Given the description of an element on the screen output the (x, y) to click on. 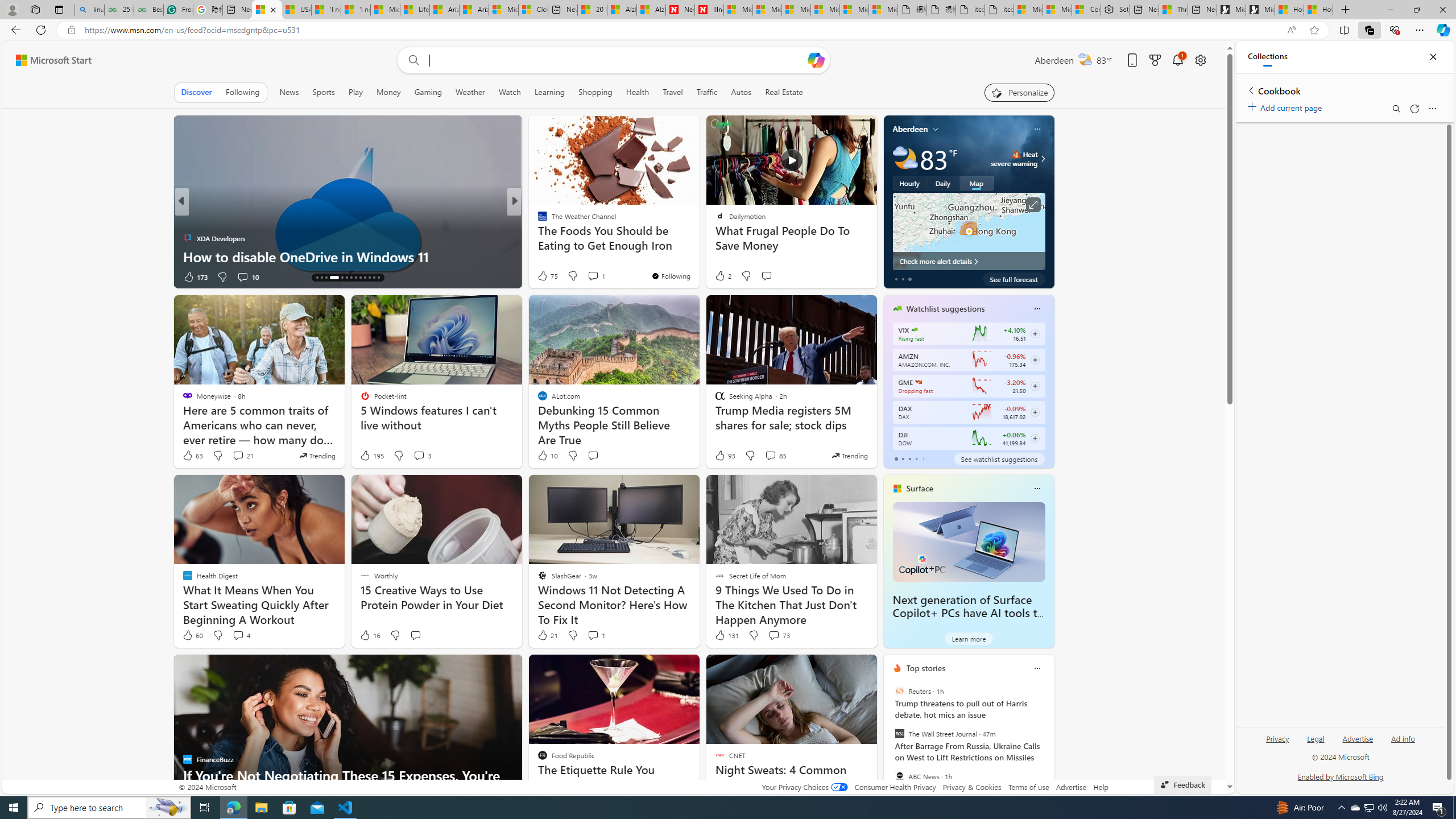
next (1047, 741)
2 Like (722, 275)
59 Like (543, 276)
Heat - Severe Heat severe warning (1014, 158)
How to Use a TV as a Computer Monitor (1318, 9)
1 Like (541, 276)
Check more alert details (968, 261)
AutomationID: tab-21 (355, 277)
The Wall Street Journal (898, 733)
